Given the description of an element on the screen output the (x, y) to click on. 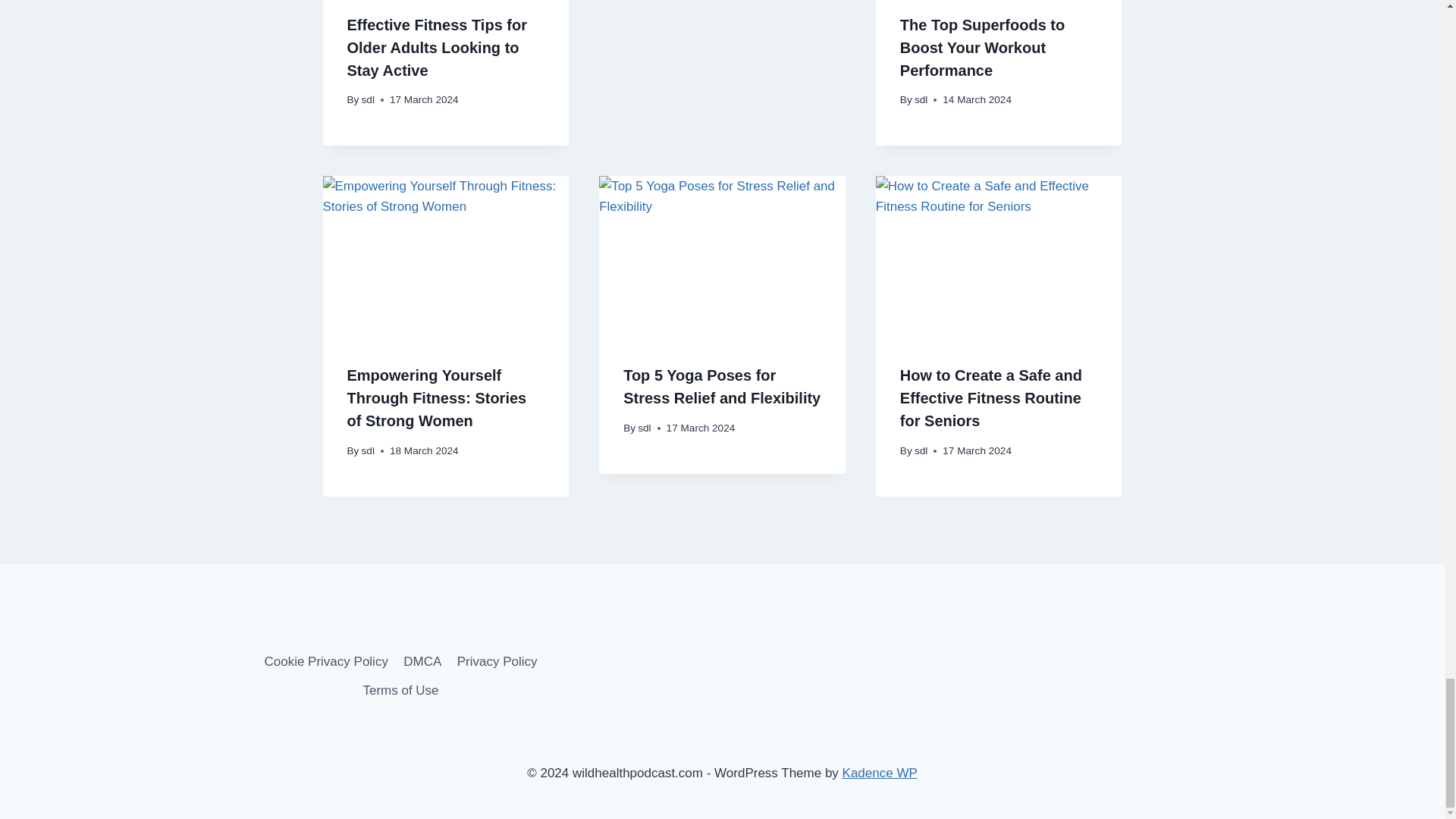
sdl (920, 99)
sdl (367, 99)
The Top Superfoods to Boost Your Workout Performance (981, 47)
Empowering Yourself Through Fitness: Stories of Strong Women (437, 397)
